Given the description of an element on the screen output the (x, y) to click on. 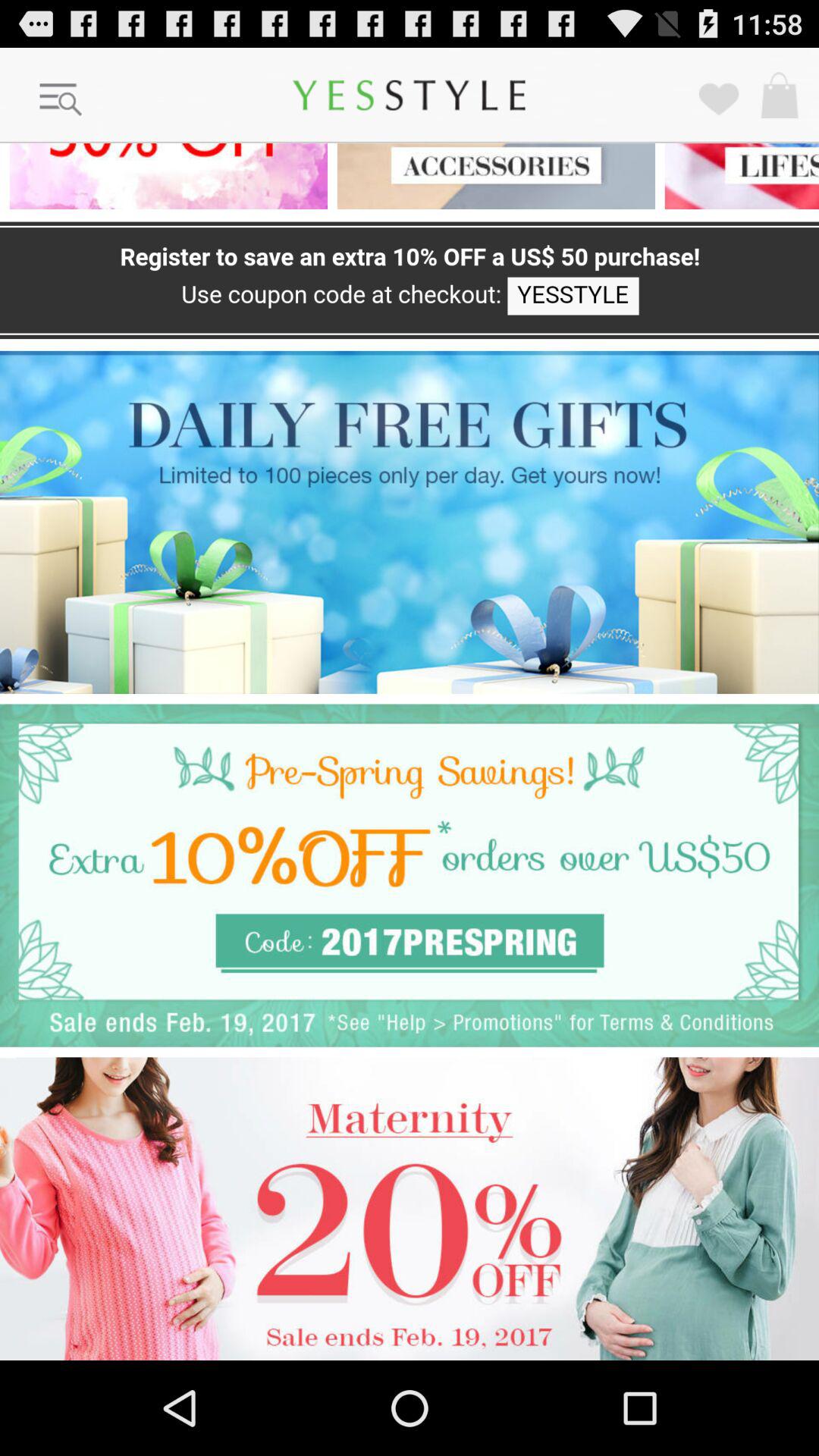
advertisement page (409, 875)
